Given the description of an element on the screen output the (x, y) to click on. 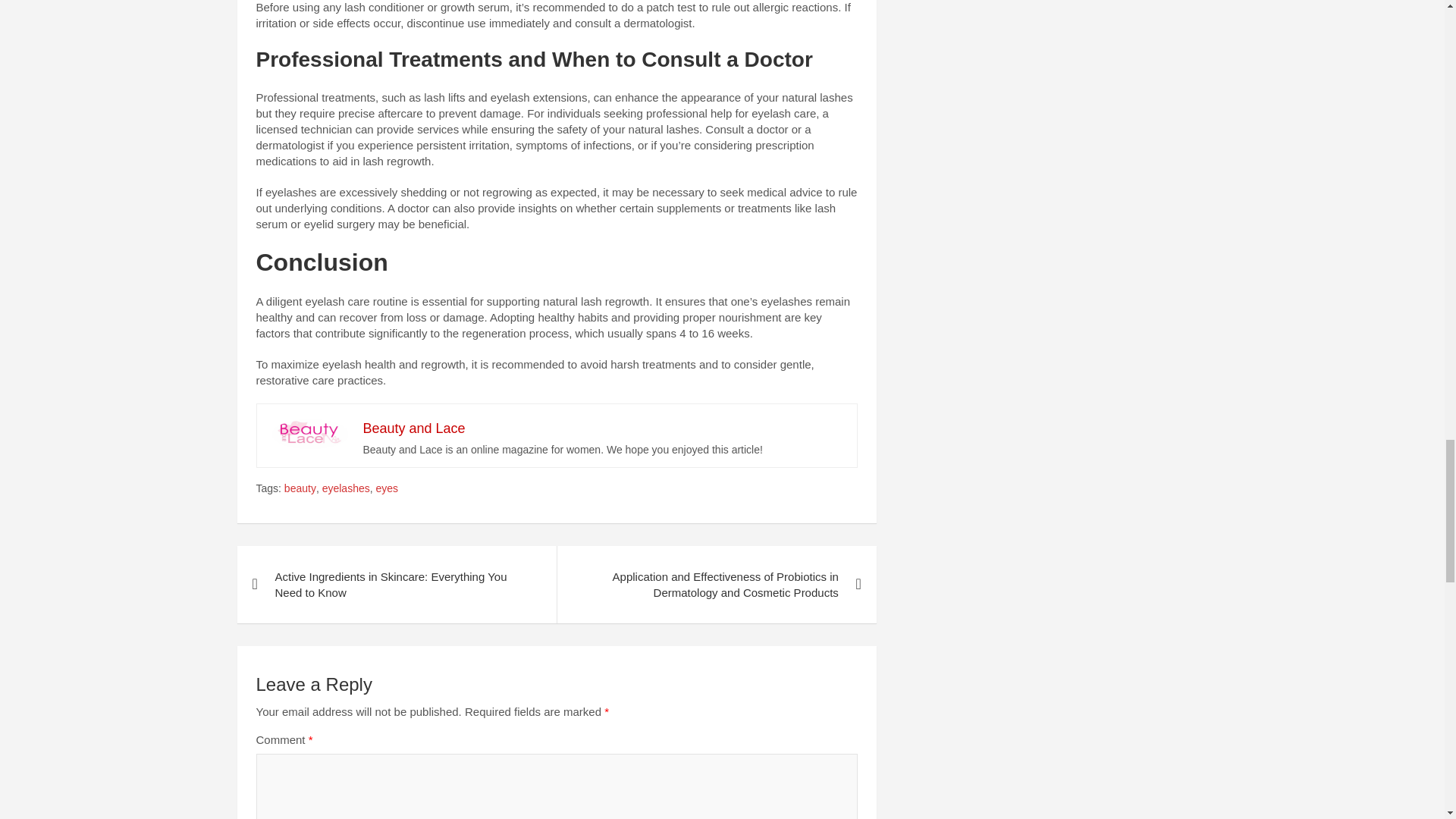
beauty (299, 488)
Beauty and Lace (413, 427)
eyelashes (345, 488)
Active Ingredients in Skincare: Everything You Need to Know (395, 584)
eyes (386, 488)
